Given the description of an element on the screen output the (x, y) to click on. 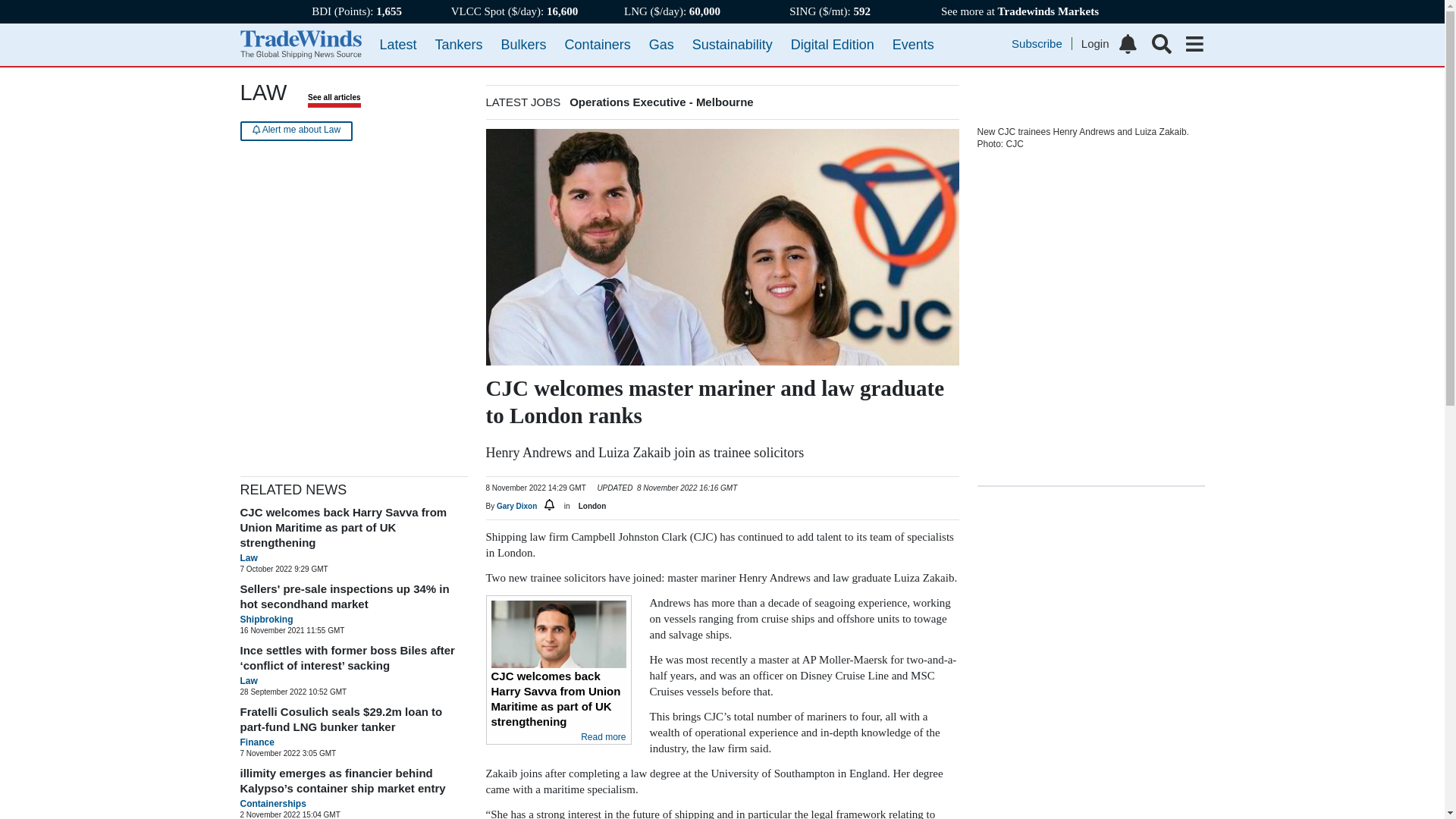
Login (1095, 42)
Latest (397, 44)
Subscribe (1041, 42)
Subscribe to get alerts for new articles from Gary Dixon (550, 506)
Tankers (459, 44)
Sustainability (733, 44)
Gas (661, 44)
Bulkers (523, 44)
Events (913, 44)
Containers (597, 44)
